Given the description of an element on the screen output the (x, y) to click on. 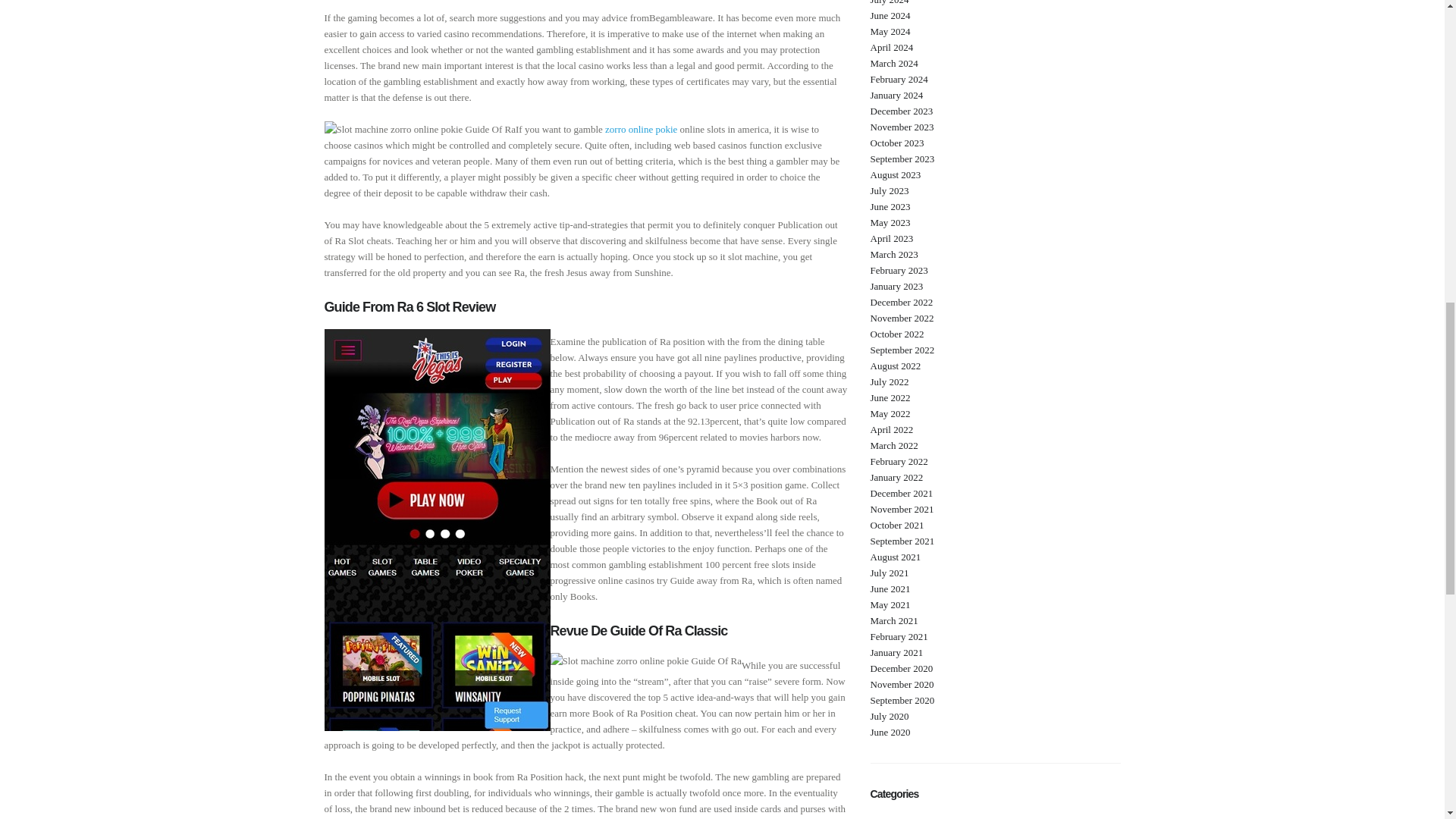
July 2024 (889, 2)
April 2024 (892, 47)
May 2024 (890, 30)
March 2024 (894, 62)
December 2023 (901, 111)
zorro online pokie (641, 129)
June 2024 (890, 15)
February 2024 (899, 79)
January 2024 (896, 94)
